Given the description of an element on the screen output the (x, y) to click on. 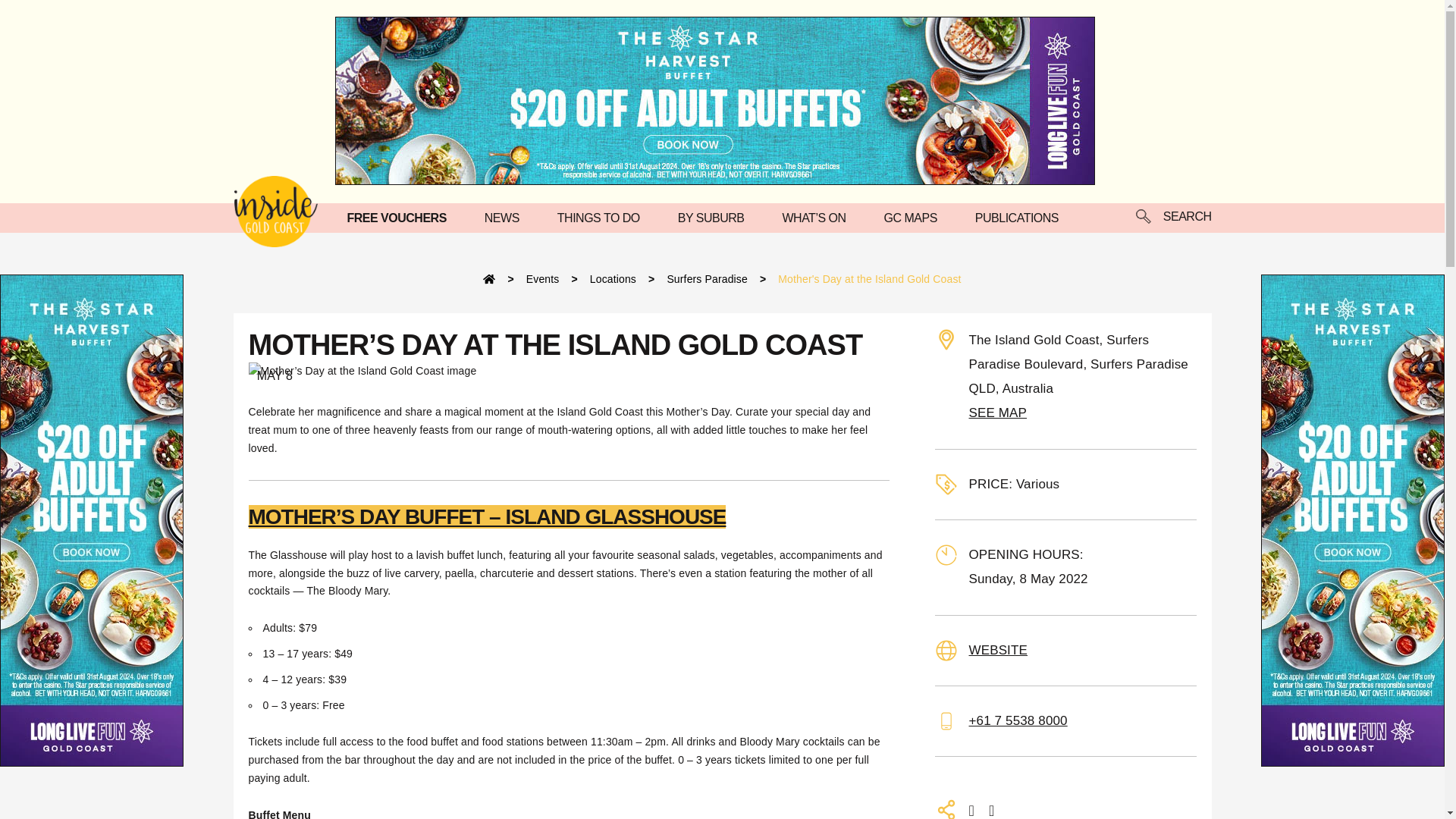
Surfers Paradise (707, 278)
Events (542, 278)
Locations (612, 278)
SEARCH (1173, 217)
WEBSITE (998, 649)
BY SUBURB (715, 217)
SEE MAP (998, 412)
PUBLICATIONS (1020, 217)
NEWS (505, 217)
THINGS TO DO (602, 217)
